Given the description of an element on the screen output the (x, y) to click on. 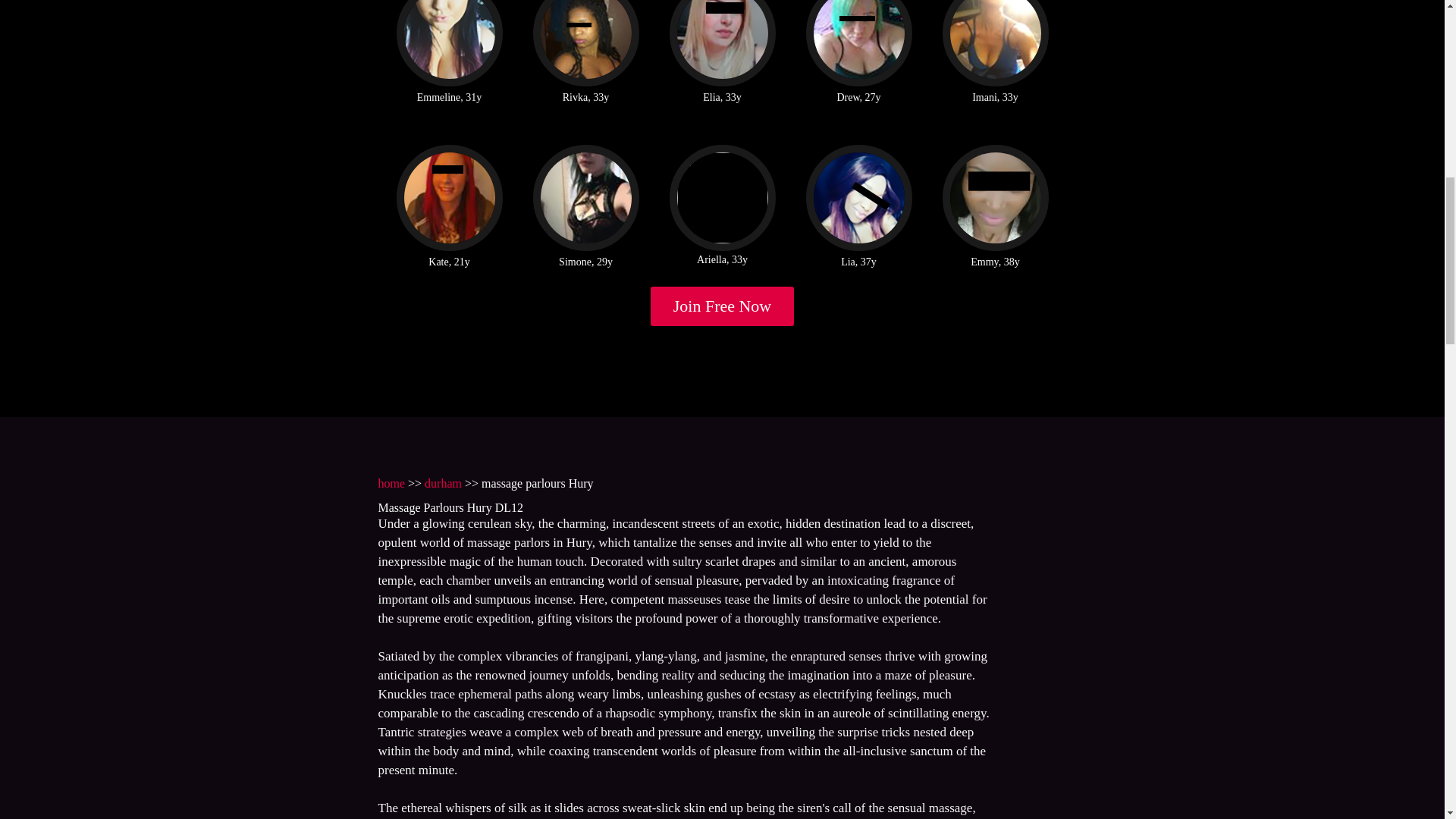
durham (443, 482)
home (390, 482)
Join (722, 305)
Join Free Now (722, 305)
